Given the description of an element on the screen output the (x, y) to click on. 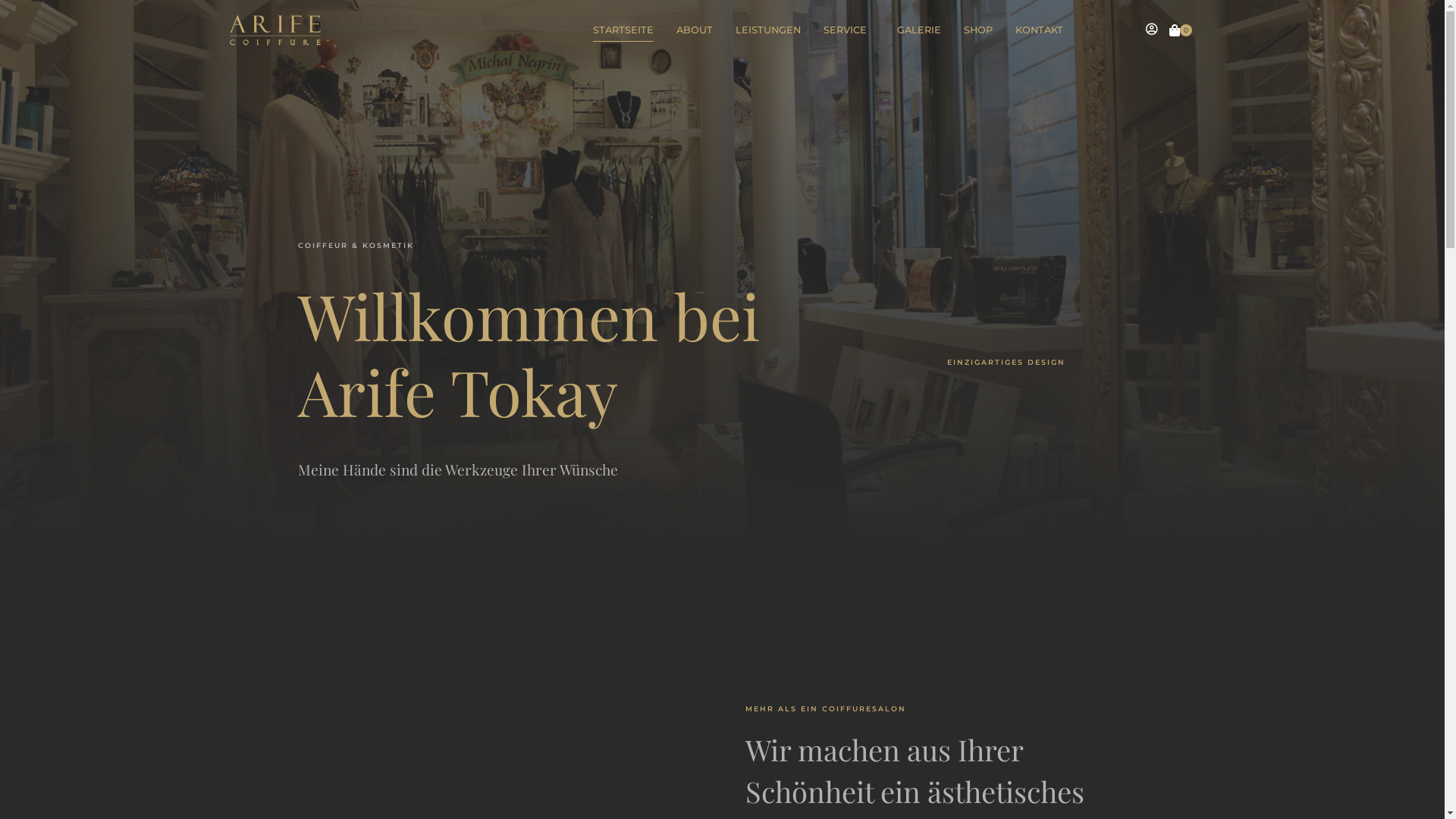
GALERIE Element type: text (919, 29)
0 Element type: text (1180, 30)
SERVICE Element type: text (848, 29)
KONTAKT Element type: text (1039, 29)
SHOP Element type: text (977, 29)
STARTSEITE Element type: text (623, 29)
ABOUT Element type: text (694, 29)
LEISTUNGEN Element type: text (767, 29)
